Given the description of an element on the screen output the (x, y) to click on. 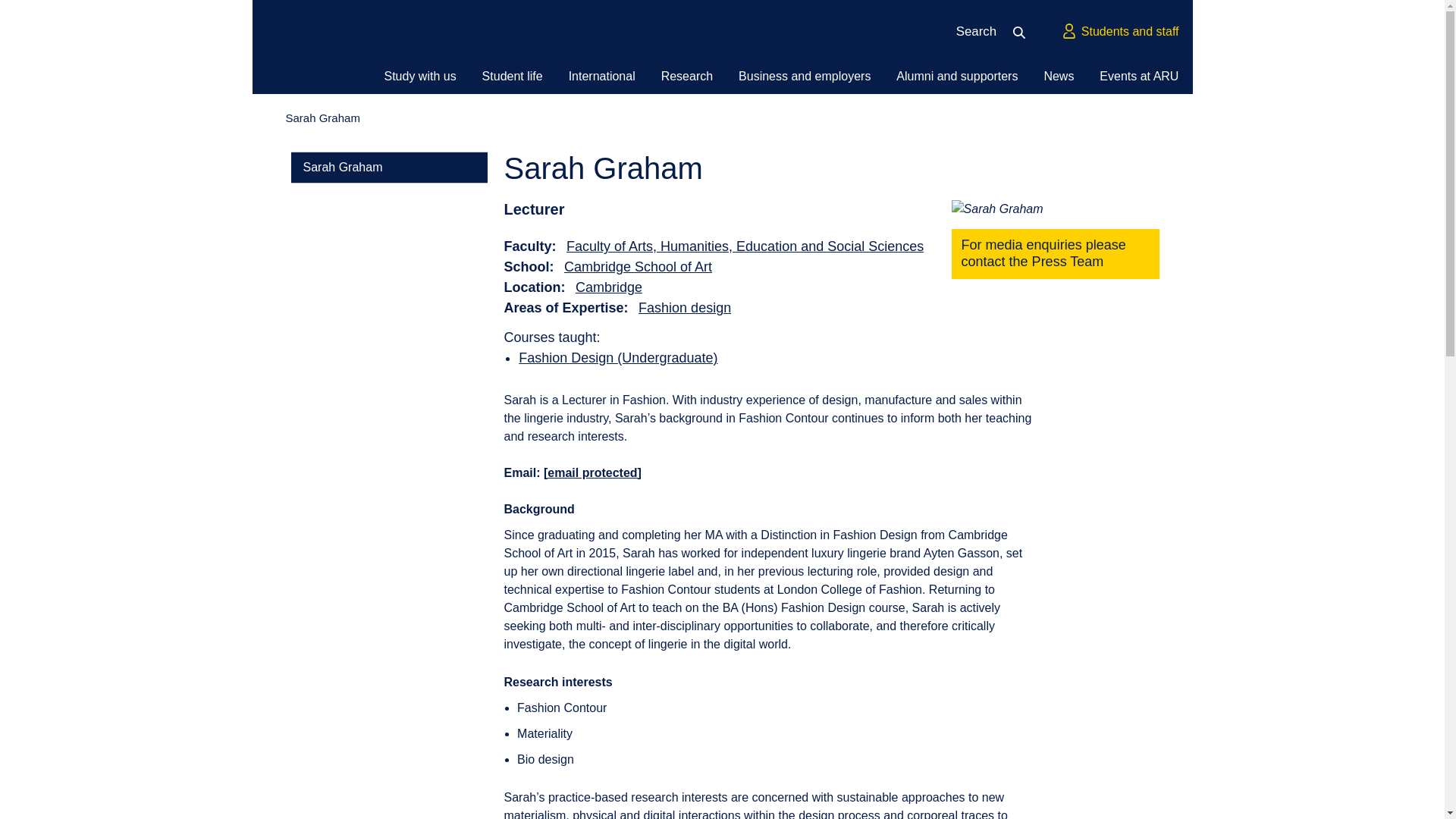
Students and staff (1119, 31)
Student life (512, 76)
Search the Anglia Ruskin website (1023, 31)
Study with us (419, 76)
